Given the description of an element on the screen output the (x, y) to click on. 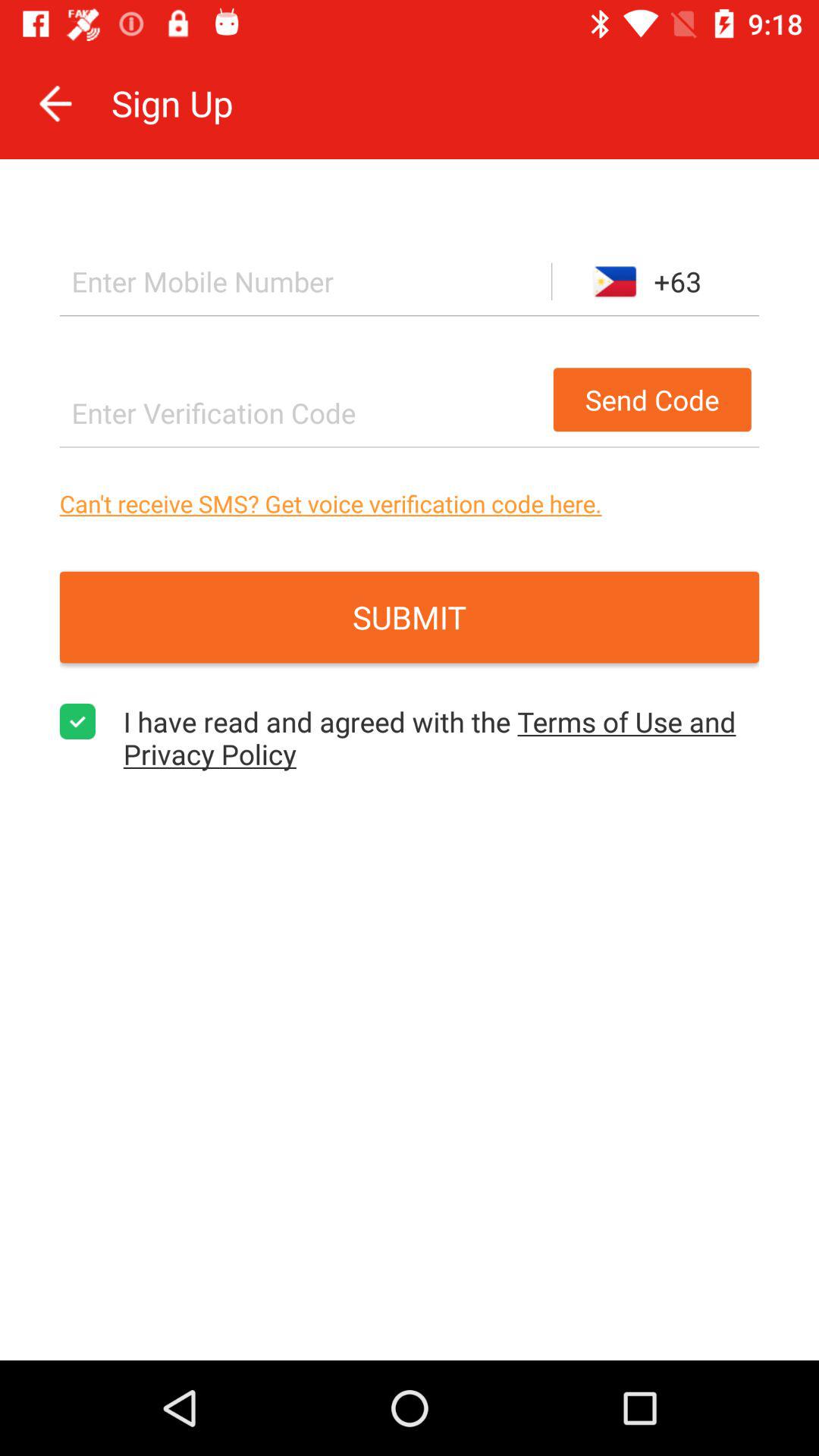
enter mobile number (305, 281)
